Given the description of an element on the screen output the (x, y) to click on. 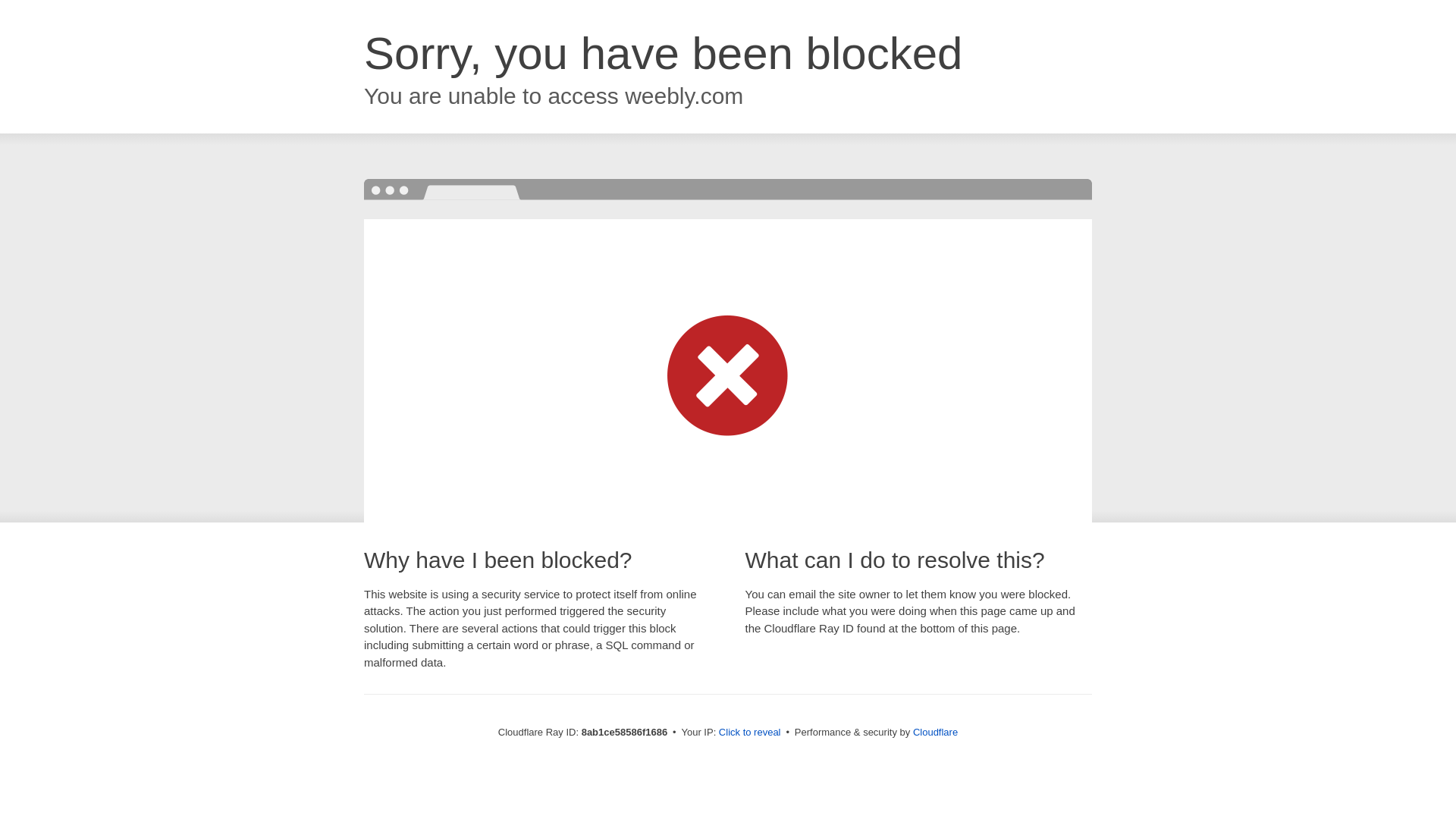
Cloudflare (935, 731)
Click to reveal (749, 732)
